Given the description of an element on the screen output the (x, y) to click on. 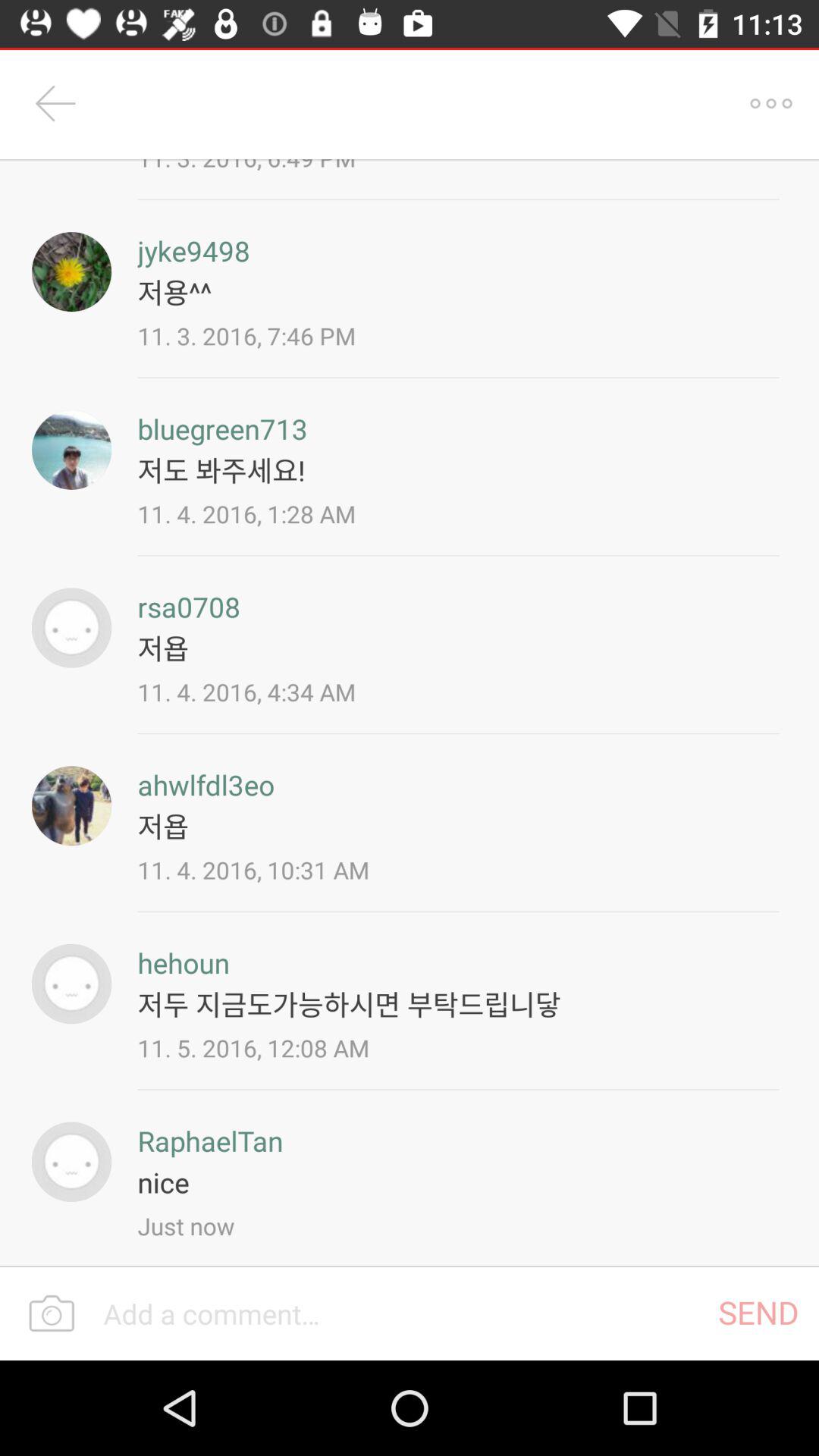
profile picture image (71, 983)
